Given the description of an element on the screen output the (x, y) to click on. 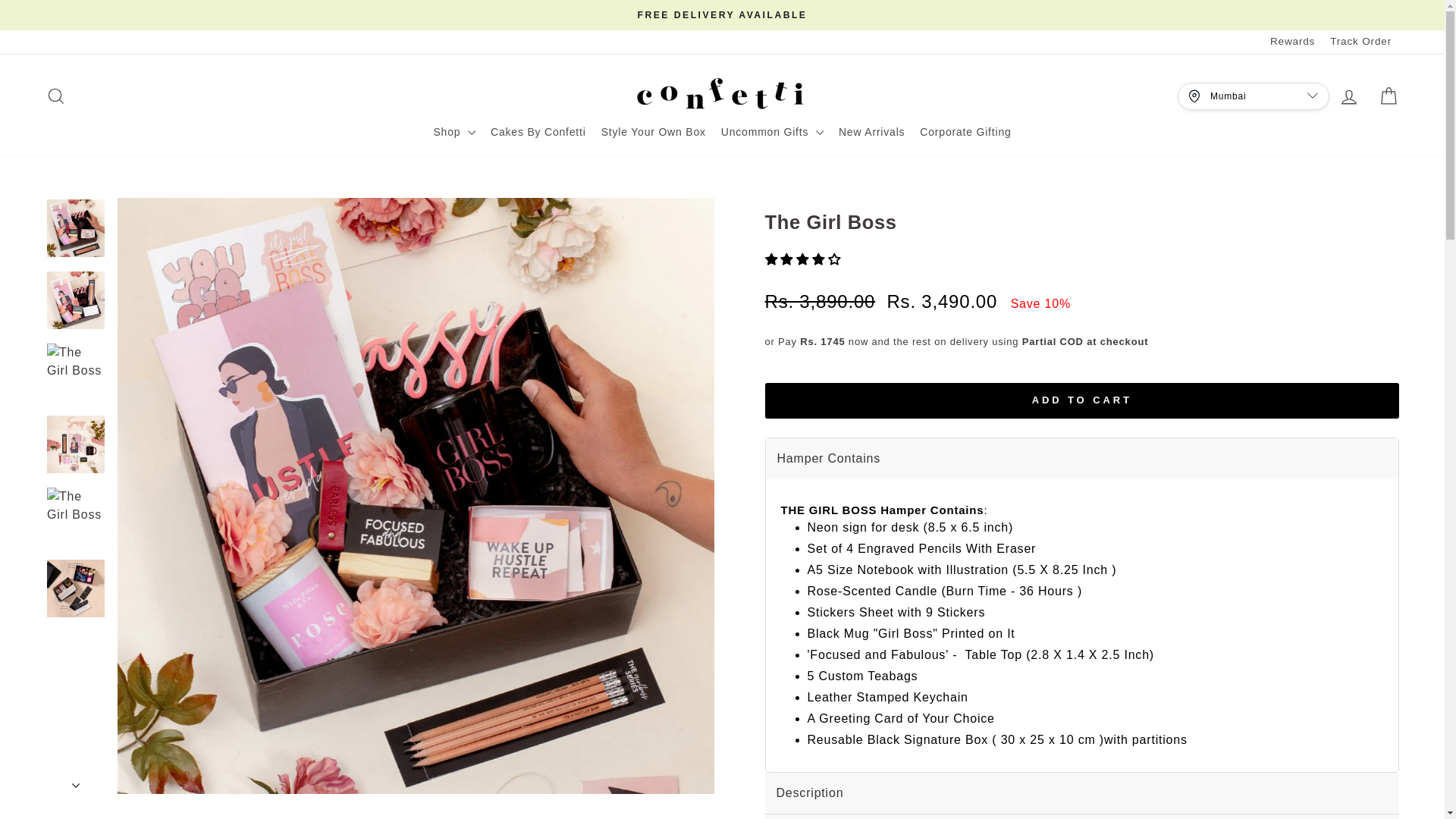
icon-chevron (75, 784)
icon-search (55, 96)
account (1348, 96)
